Given the description of an element on the screen output the (x, y) to click on. 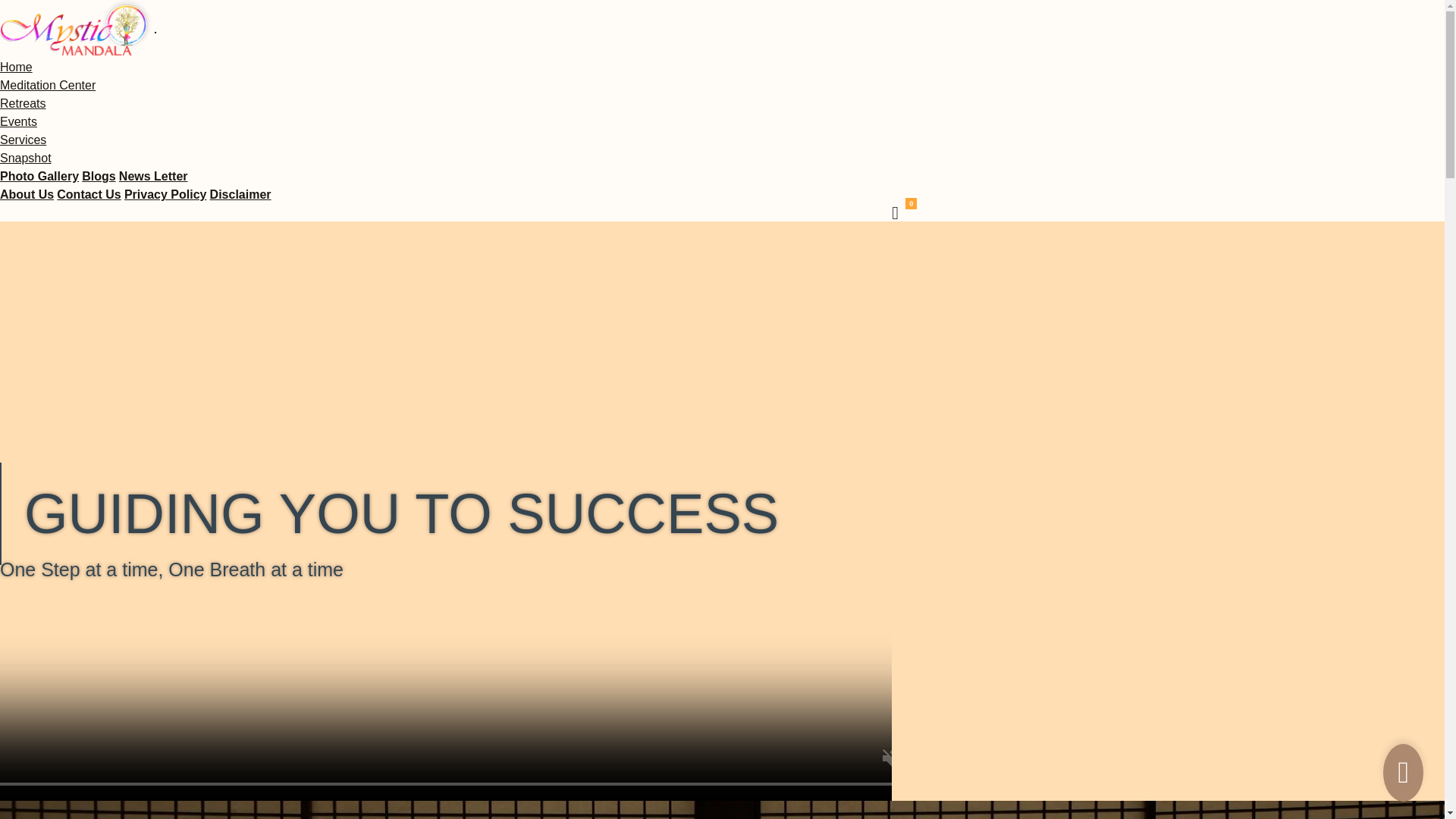
Snapshot (30, 157)
Photo Gallery (39, 175)
Services (28, 139)
Contact Us (88, 194)
Retreats (28, 103)
Events (23, 121)
Member Login (43, 194)
Disclaimer (239, 194)
Meditation Center (52, 84)
News Letter (153, 175)
Blogs (98, 175)
More (18, 175)
Home (21, 66)
Privacy Policy (164, 194)
About Us (26, 194)
